Given the description of an element on the screen output the (x, y) to click on. 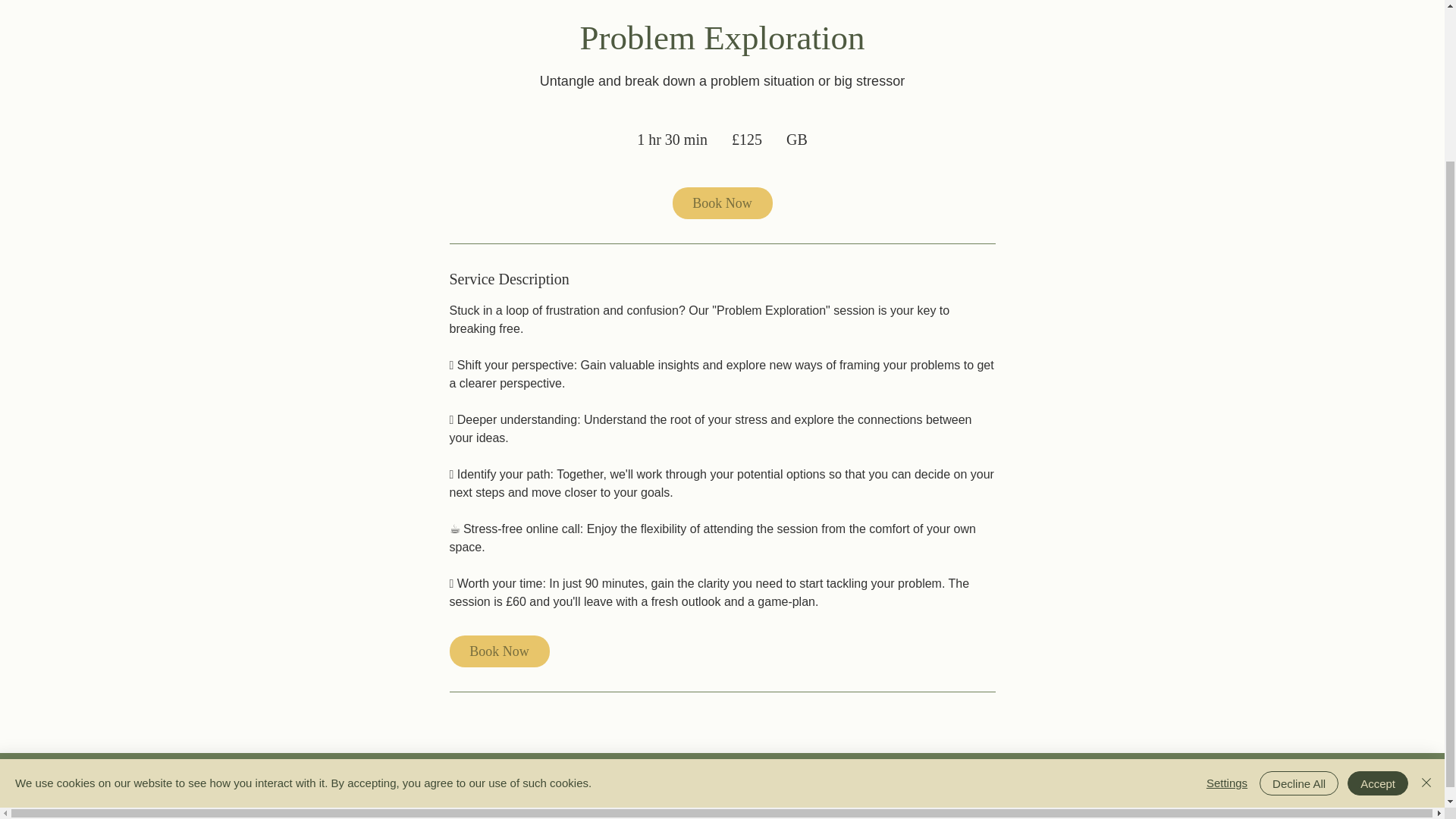
emily powell (1064, 784)
Book Now (498, 651)
Book Now (721, 203)
contact me (403, 785)
Decline All (1298, 589)
Accept (1377, 589)
